Given the description of an element on the screen output the (x, y) to click on. 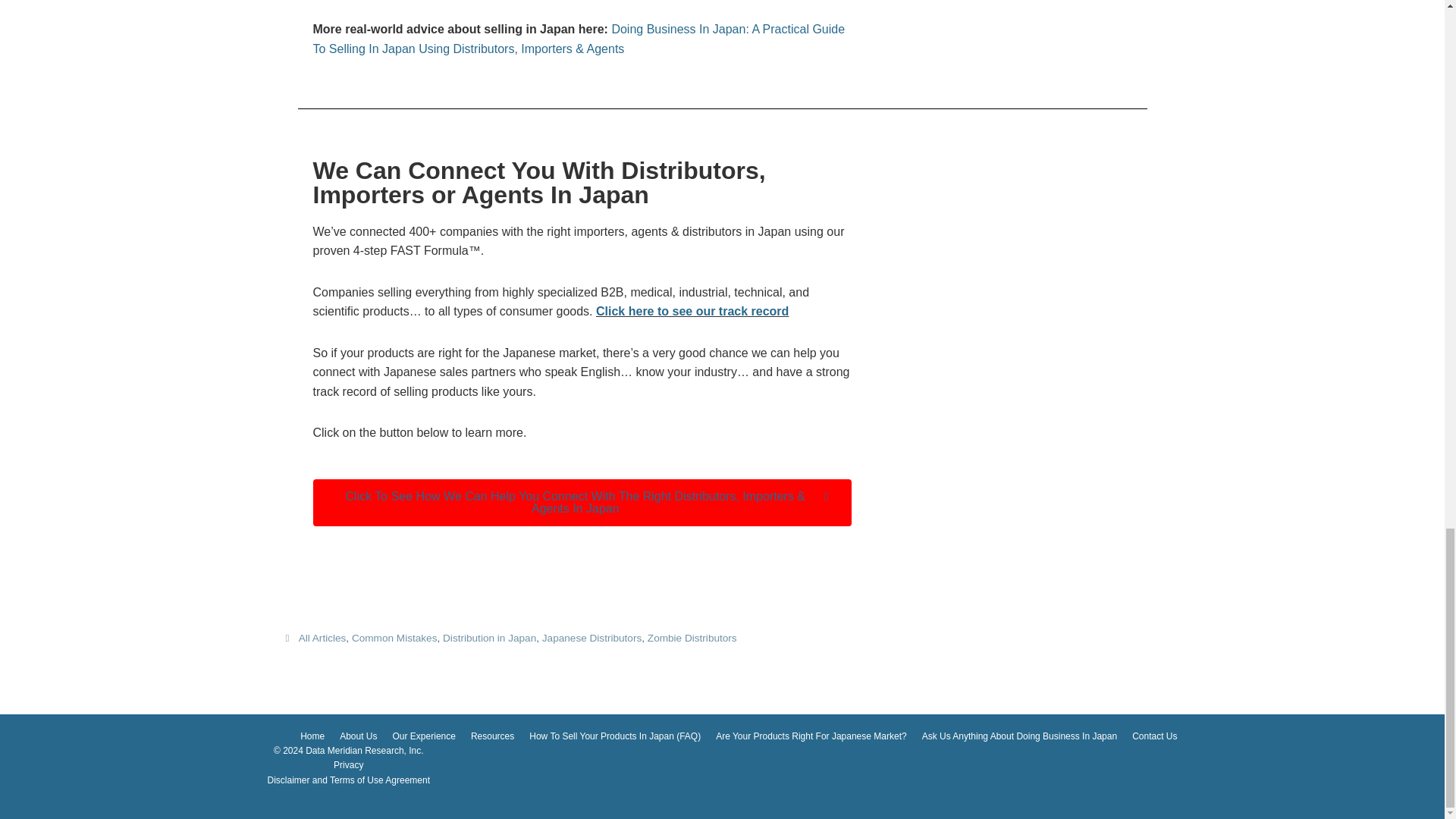
Are Your Products Right For Japanese Market? (810, 736)
Disclaimer and Terms of Use Agreement (347, 779)
Resources (491, 736)
Our Experience (424, 736)
Distribution in Japan (488, 637)
Data Meridian Research, Inc. (364, 750)
All Articles (322, 637)
Common Mistakes (395, 637)
Ask Us Anything About Doing Business In Japan (1019, 736)
Home (311, 736)
